Given the description of an element on the screen output the (x, y) to click on. 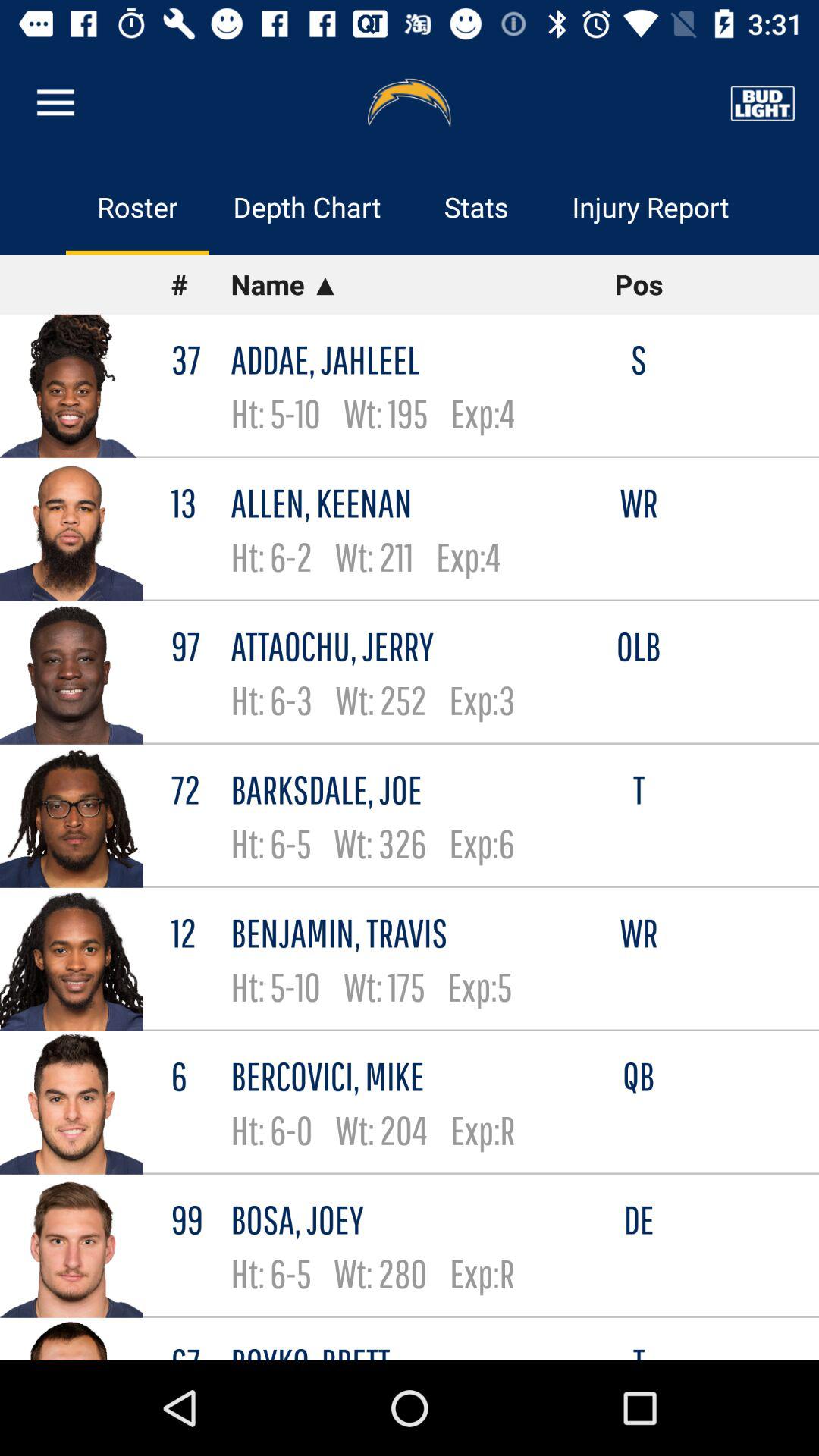
choose icon below injury report item (638, 284)
